Given the description of an element on the screen output the (x, y) to click on. 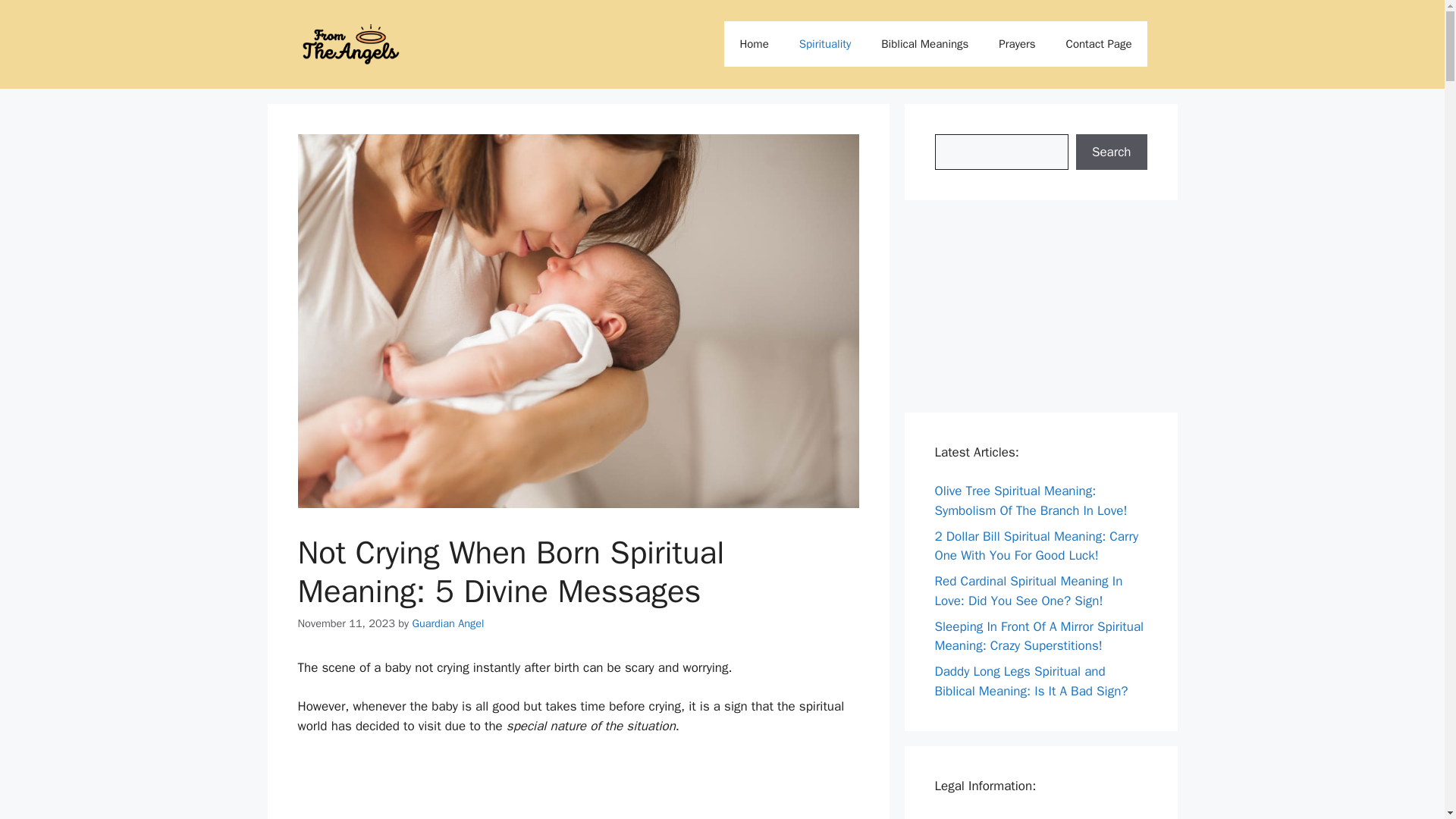
Guardian Angel (447, 622)
Spirituality (825, 43)
From The Angels (350, 44)
Contact Page (971, 817)
Prayers (1016, 43)
Search (1111, 152)
From The Angels (350, 43)
